Given the description of an element on the screen output the (x, y) to click on. 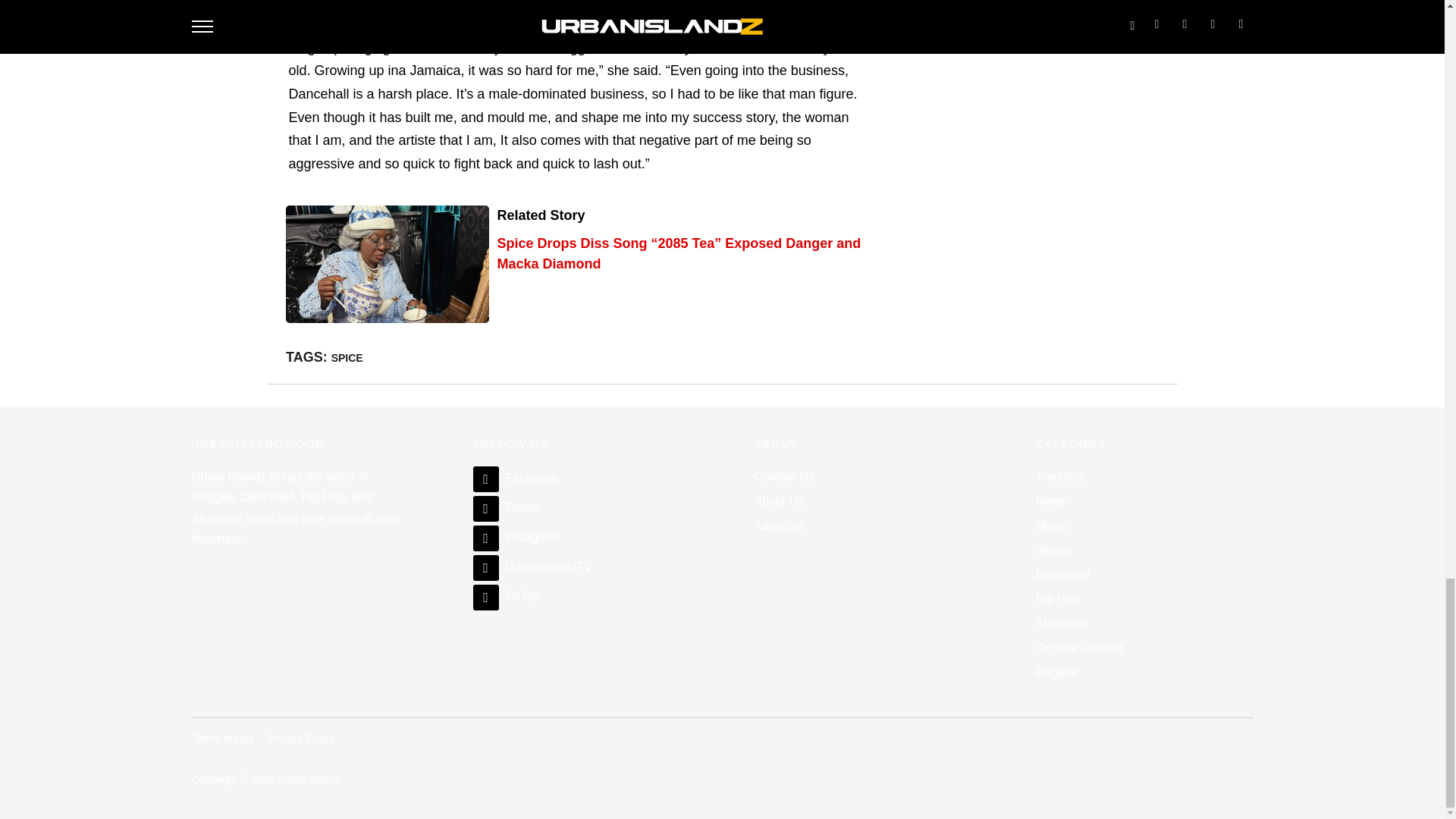
UrbanIslandzTV (532, 566)
Twitter (507, 507)
Instagram (516, 536)
Facebook (516, 477)
